Given the description of an element on the screen output the (x, y) to click on. 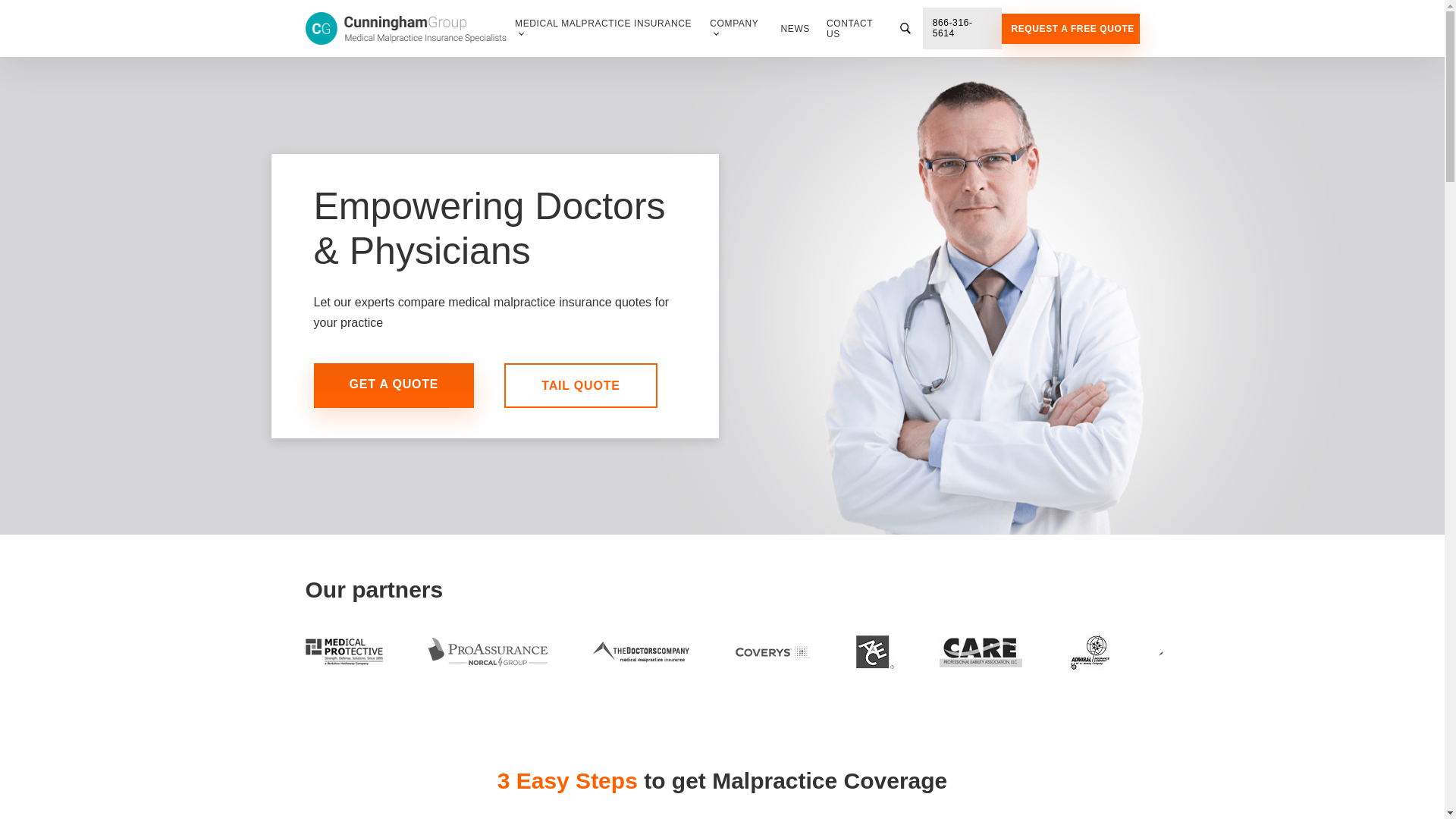
CONTACT US (856, 28)
NEWS (795, 27)
COMPANY (736, 28)
MEDICAL MALPRACTICE INSURANCE (603, 28)
